Given the description of an element on the screen output the (x, y) to click on. 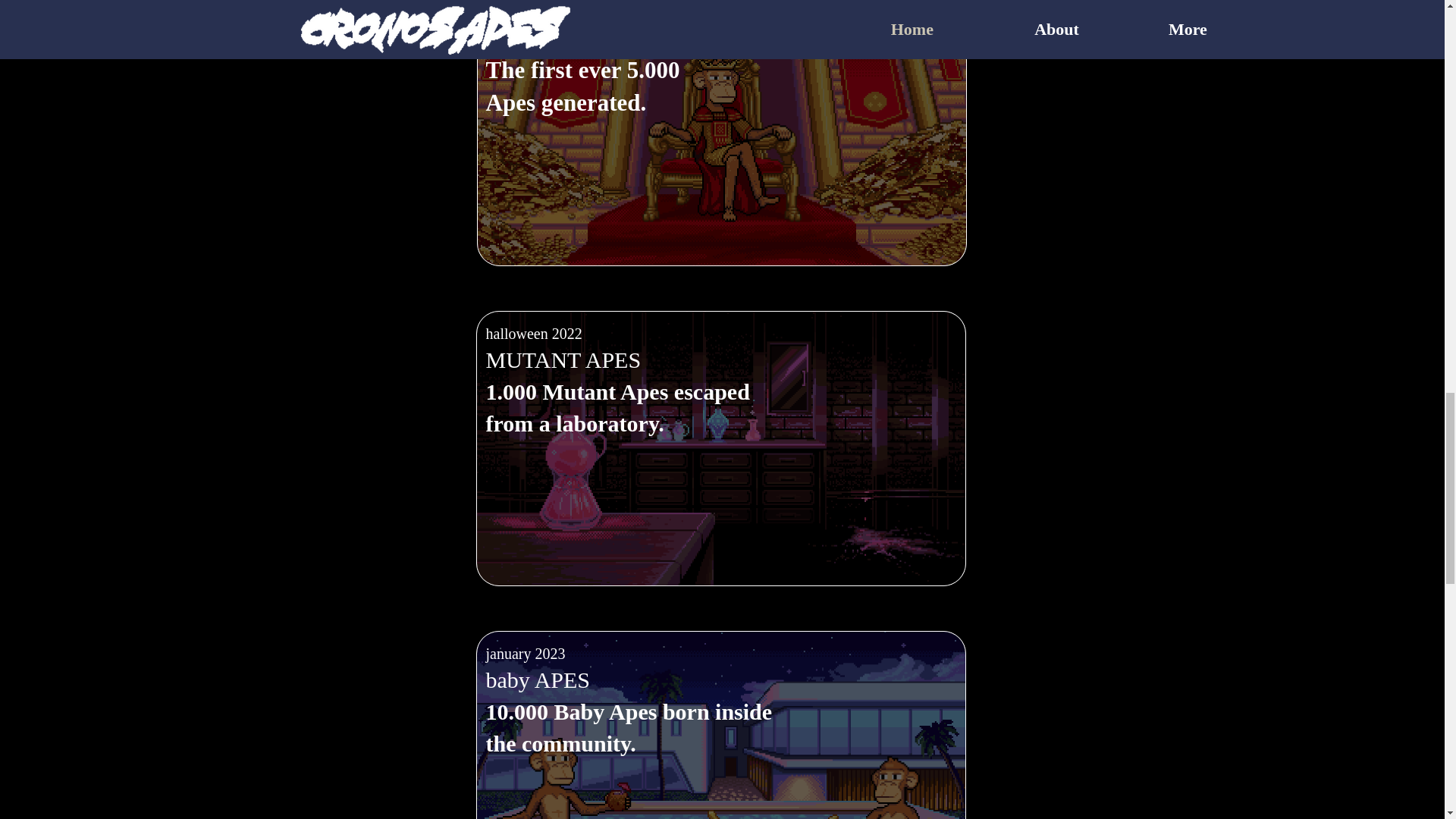
Sfondo sito.gif (721, 133)
Lab.gif (721, 724)
